Given the description of an element on the screen output the (x, y) to click on. 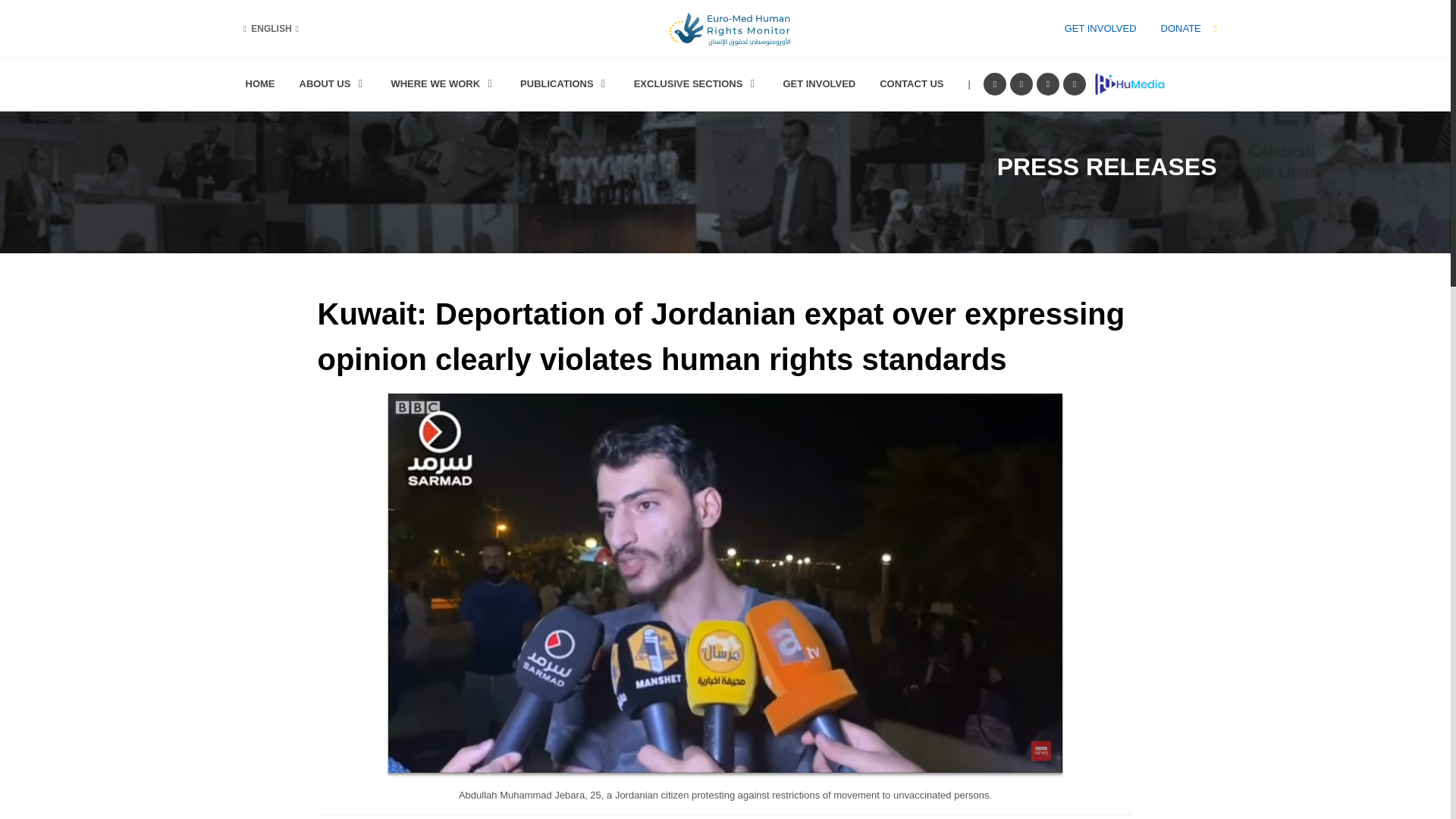
HOME (258, 84)
DONATE (1180, 28)
ABOUT US (333, 84)
WHERE WE WORK (442, 84)
GET INVOLVED (1100, 28)
ENGLISH (269, 28)
